Given the description of an element on the screen output the (x, y) to click on. 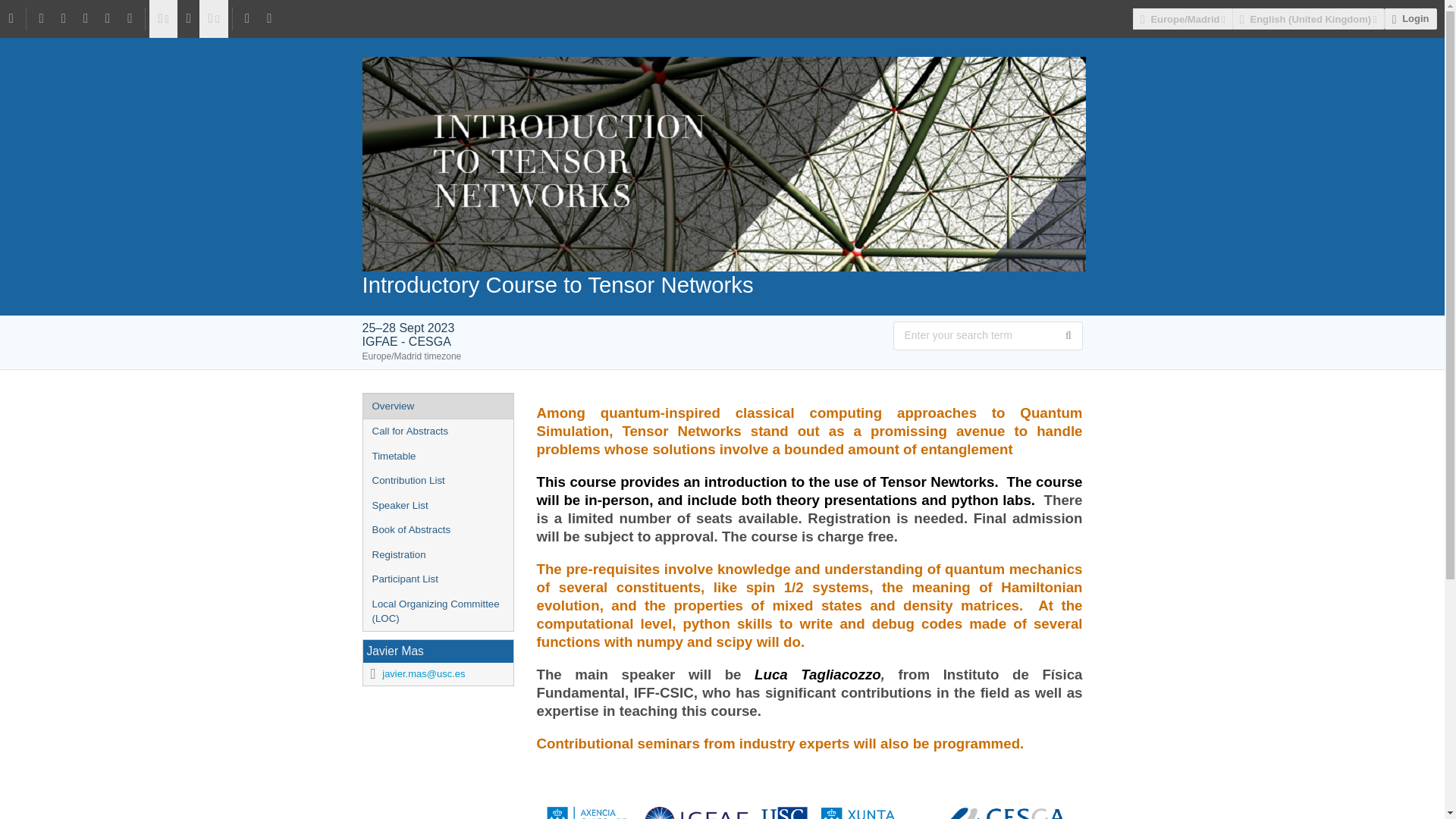
Overview (437, 406)
Call for Abstracts (437, 431)
Login (1410, 19)
Timetable (437, 456)
